Given the description of an element on the screen output the (x, y) to click on. 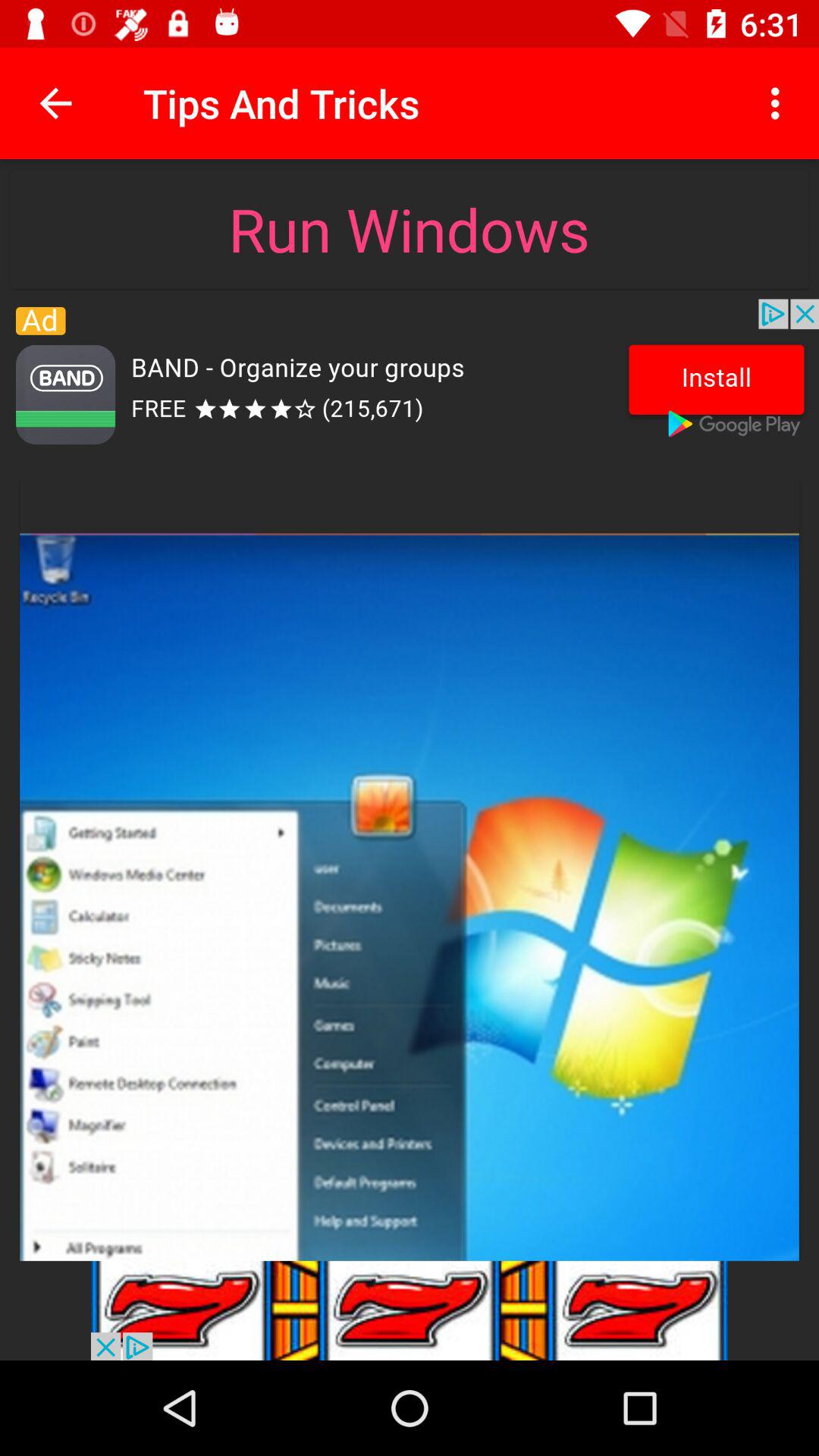
for advisment (409, 378)
